Given the description of an element on the screen output the (x, y) to click on. 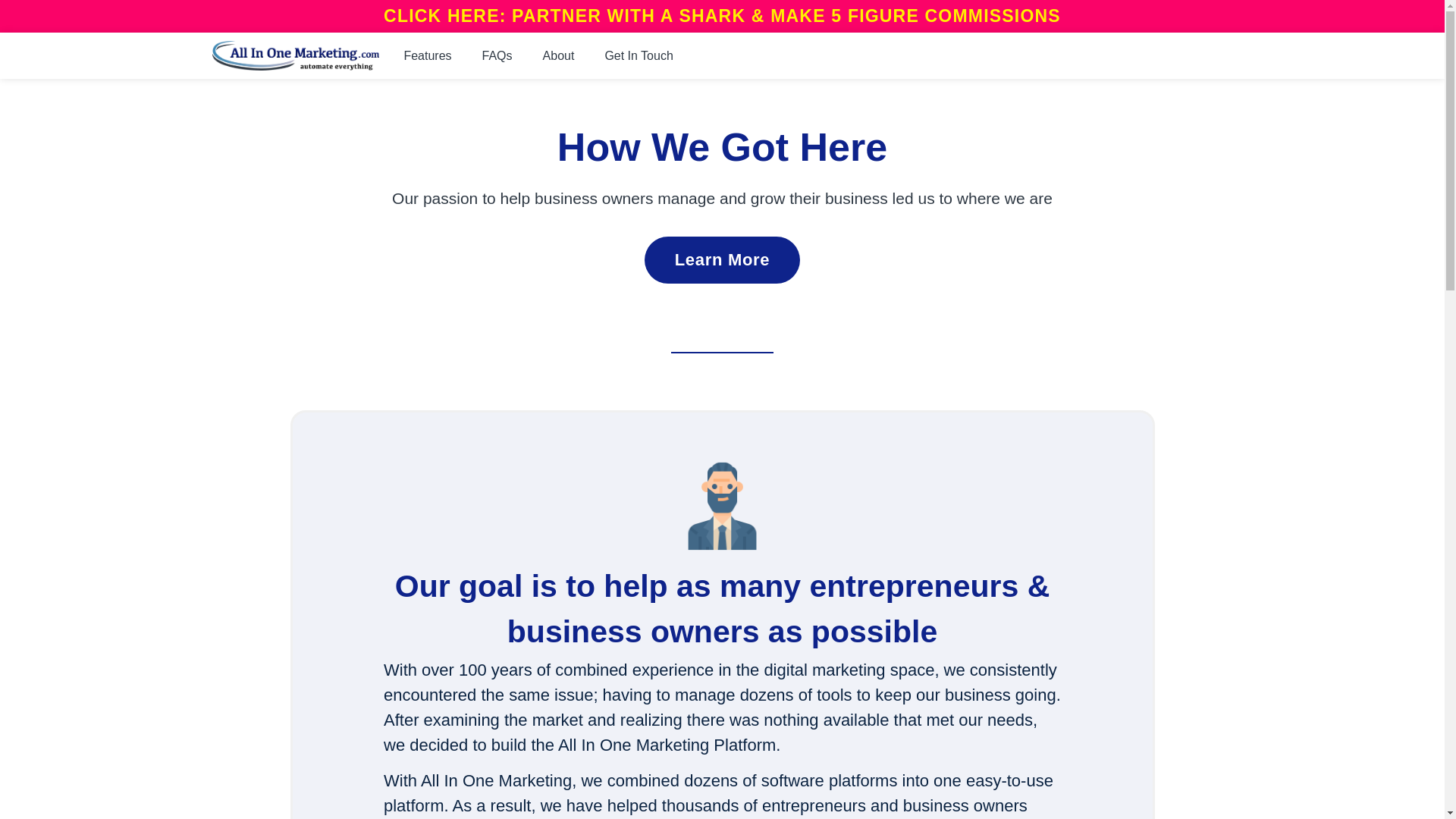
Learn More (722, 259)
FAQs (497, 55)
About (558, 55)
Features (426, 55)
Get In Touch (638, 55)
